Given the description of an element on the screen output the (x, y) to click on. 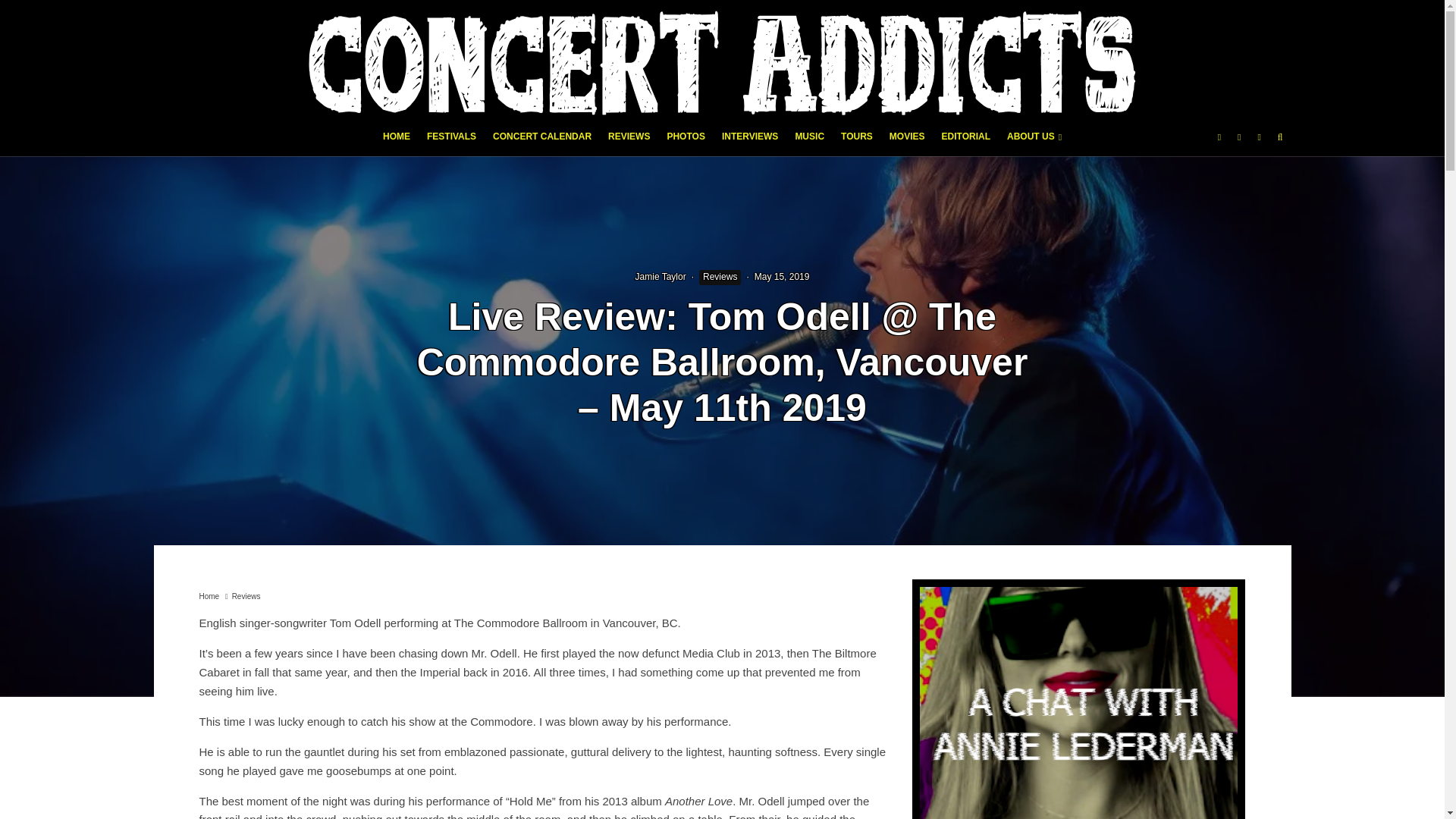
FESTIVALS (451, 141)
REVIEWS (628, 141)
HOME (396, 141)
PHOTOS (685, 141)
INTERVIEWS (749, 141)
CONCERT CALENDAR (541, 141)
